Given the description of an element on the screen output the (x, y) to click on. 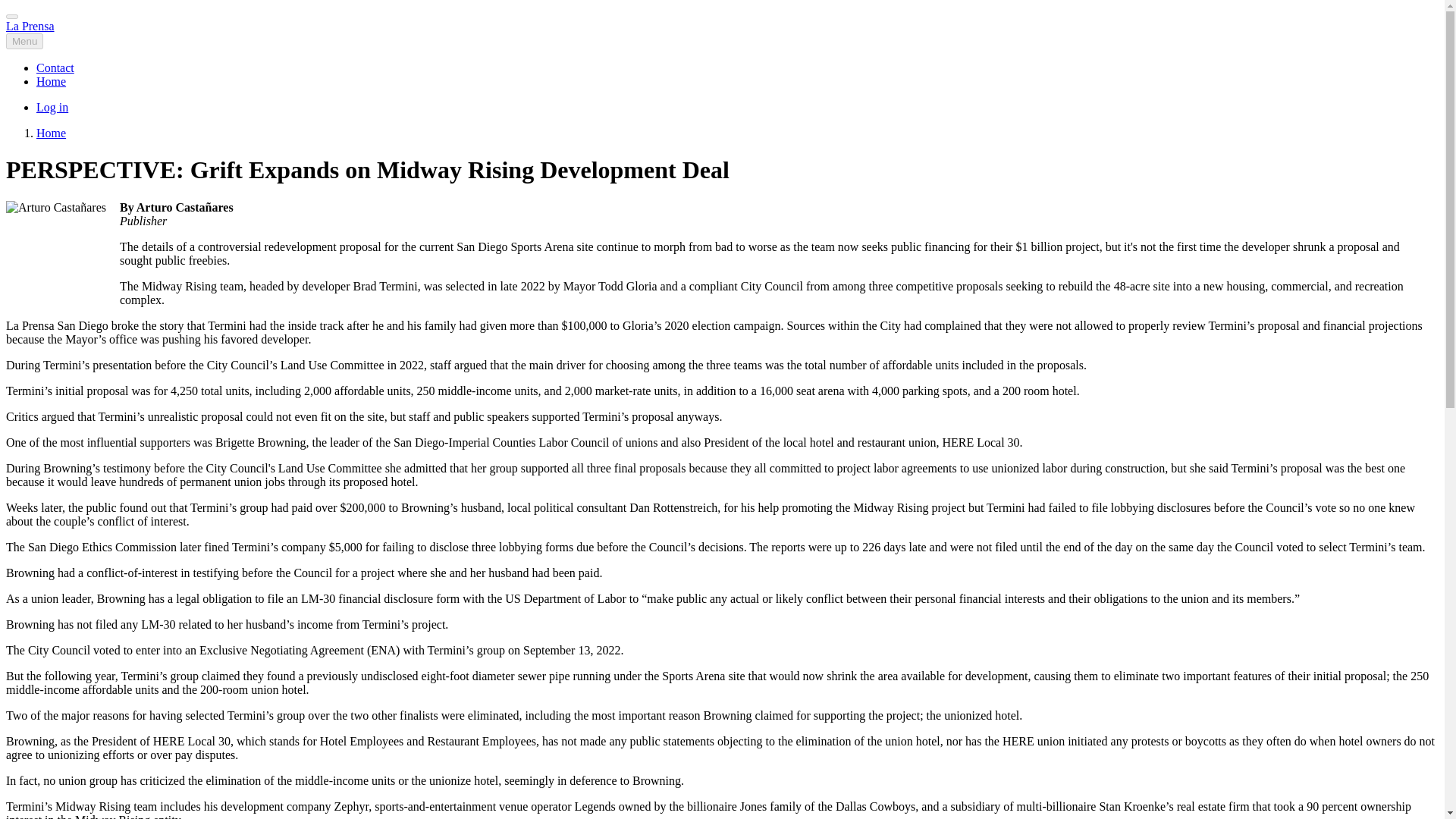
Home (50, 132)
La Prensa (30, 25)
Home (50, 81)
Home (30, 25)
Menu (24, 41)
Log in (52, 106)
Contact (55, 67)
